Given the description of an element on the screen output the (x, y) to click on. 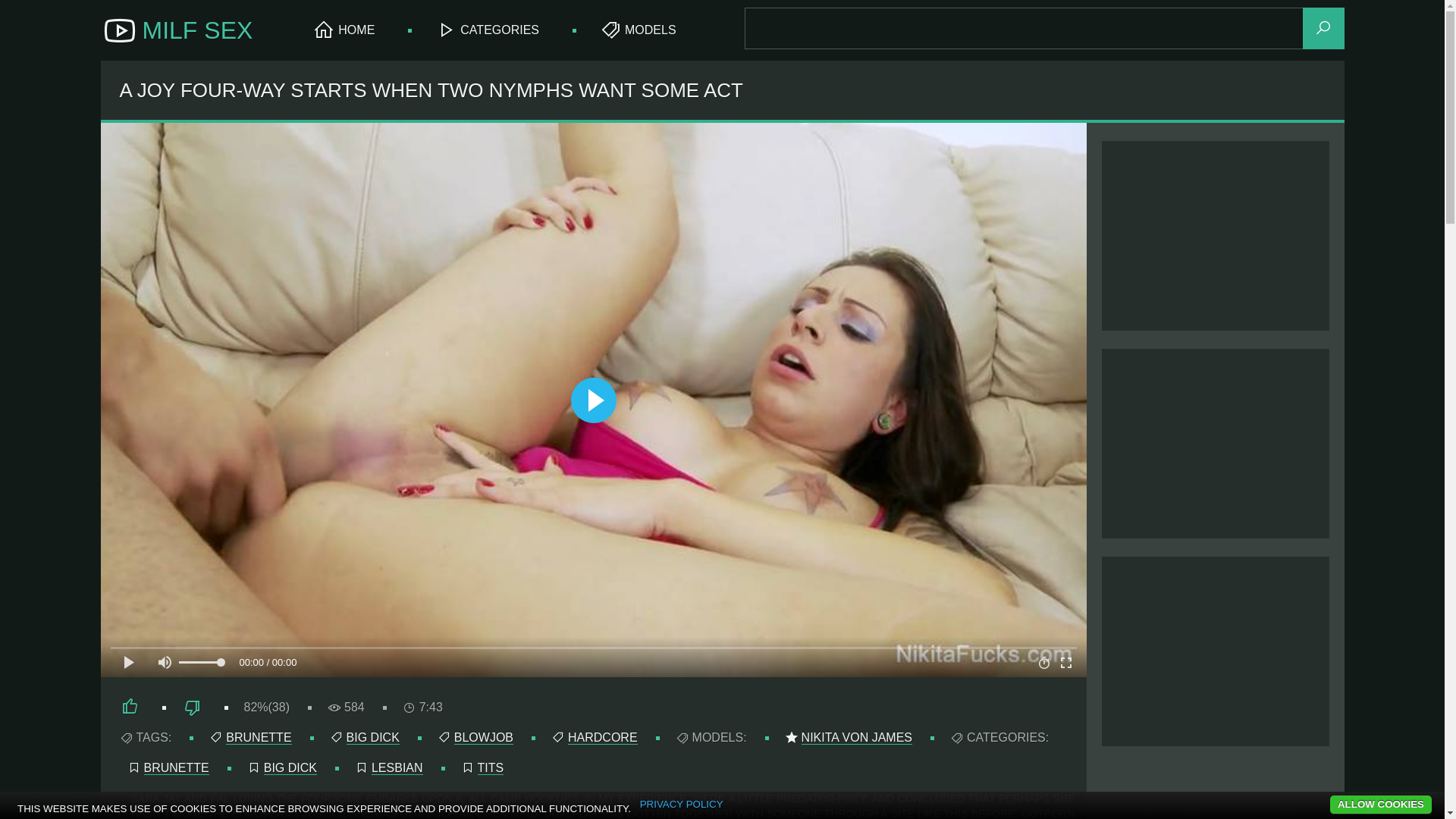
HARDCORE Element type: text (602, 737)
BLOWJOB Element type: text (483, 737)
HOME Element type: text (343, 30)
NIKITA VON JAMES Element type: text (856, 737)
PRIVACY POLICY Element type: text (681, 804)
TITS Element type: text (490, 768)
ALLOW COOKIES Element type: text (1380, 804)
MILF SEX Element type: text (176, 30)
BIG DICK Element type: text (289, 768)
BRUNETTE Element type: text (176, 768)
BIG DICK Element type: text (372, 737)
Find Element type: hover (1323, 28)
MODELS Element type: text (637, 30)
LESBIAN Element type: text (397, 768)
CATEGORIES Element type: text (487, 30)
BRUNETTE Element type: text (258, 737)
